Given the description of an element on the screen output the (x, y) to click on. 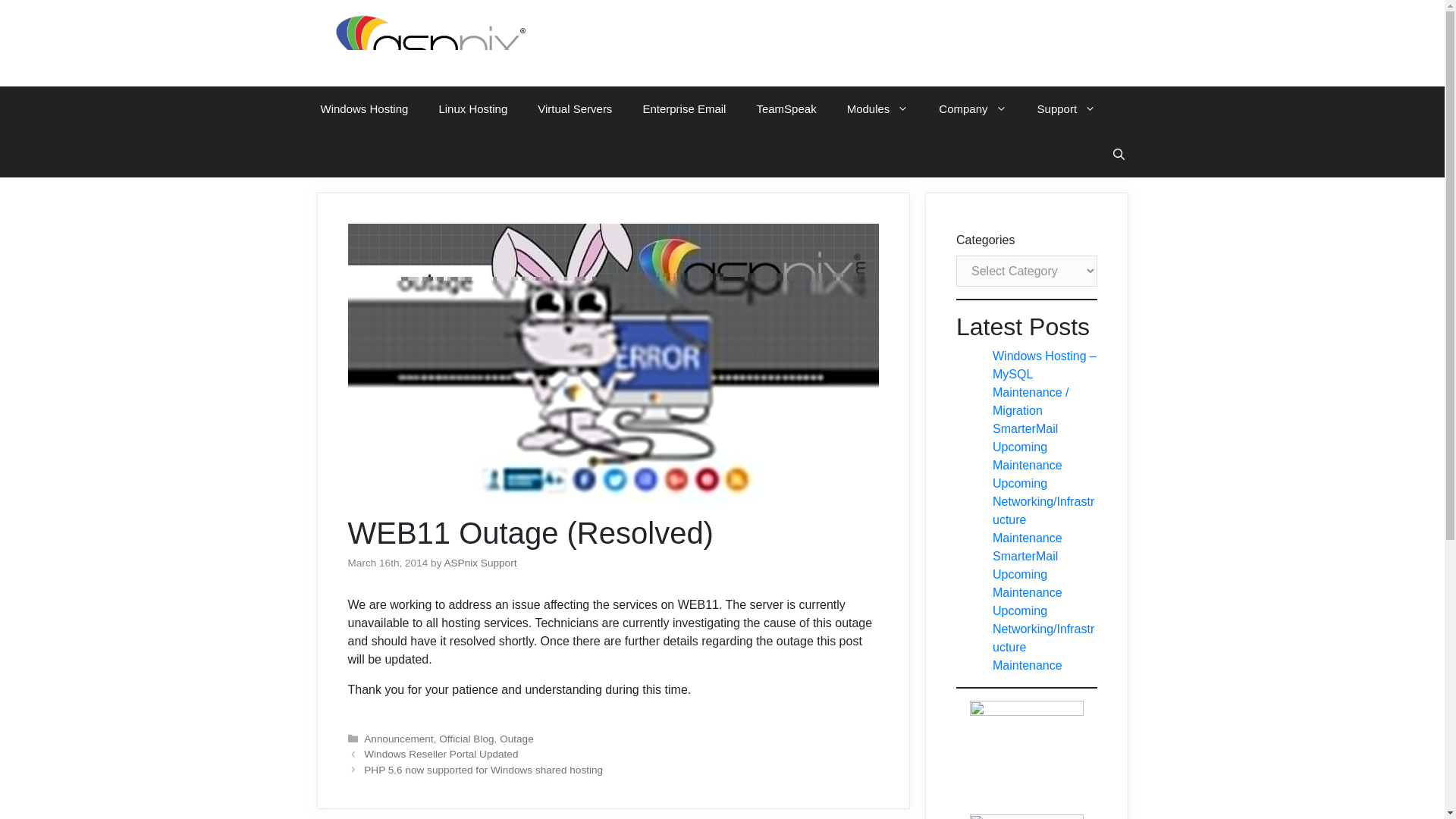
SmarterMail Upcoming Maintenance (1027, 573)
Outage (516, 738)
Virtual Cloud Servers (574, 108)
PHP 5.6 now supported for Windows shared hosting (483, 769)
Support (1067, 108)
Windows Hosting (363, 108)
Enterprise Email (684, 108)
Windows Reseller Portal Updated (441, 754)
Linux Hosting (472, 108)
ASPnix Support (480, 562)
